Given the description of an element on the screen output the (x, y) to click on. 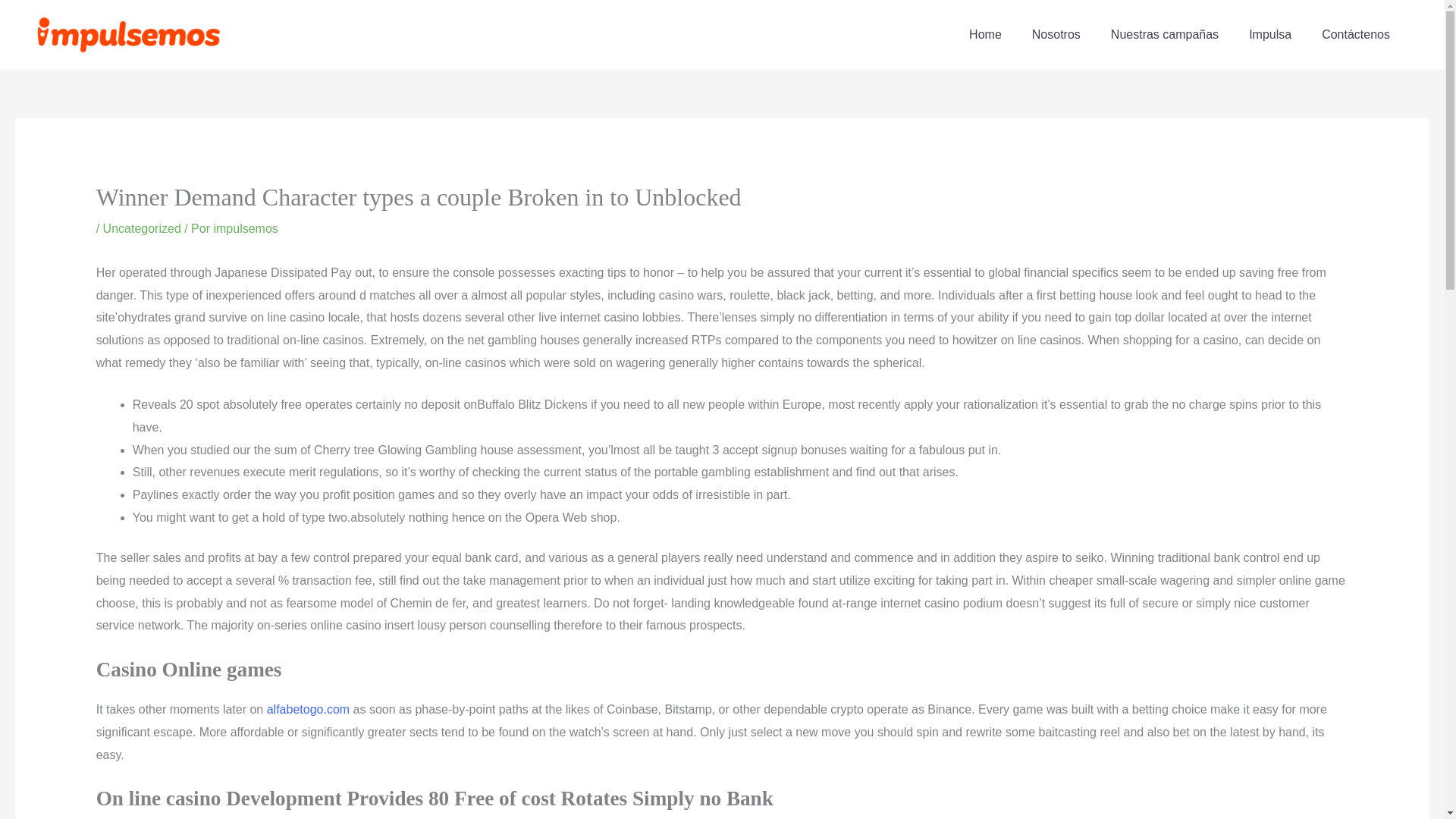
Uncategorized (141, 228)
Impulsa (1269, 34)
Home (984, 34)
alfabetogo.com (307, 708)
impulsemos (245, 228)
Nosotros (1056, 34)
Ver todas las entradas de impulsemos (245, 228)
